Given the description of an element on the screen output the (x, y) to click on. 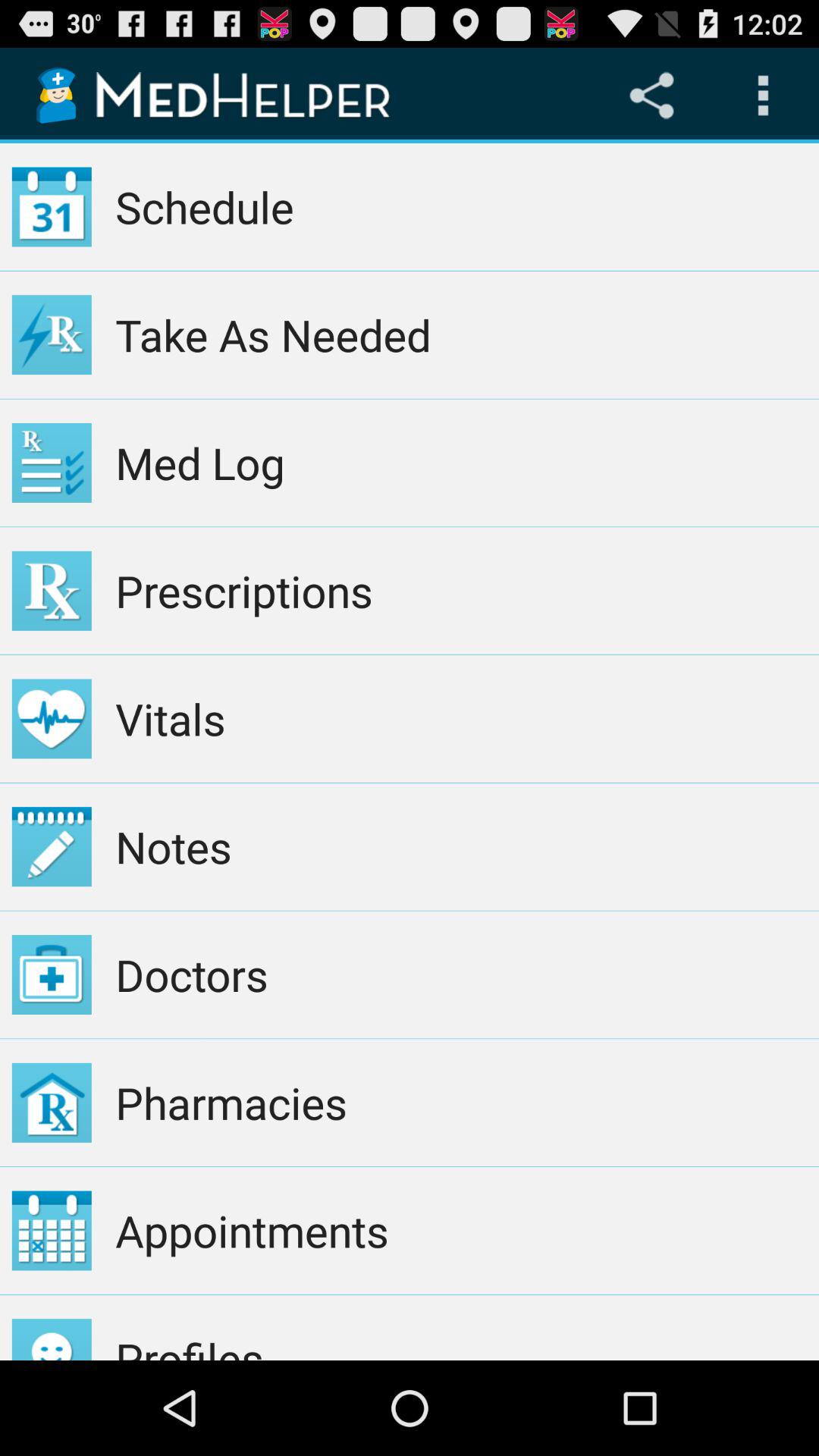
press the item below the doctors item (461, 1102)
